Given the description of an element on the screen output the (x, y) to click on. 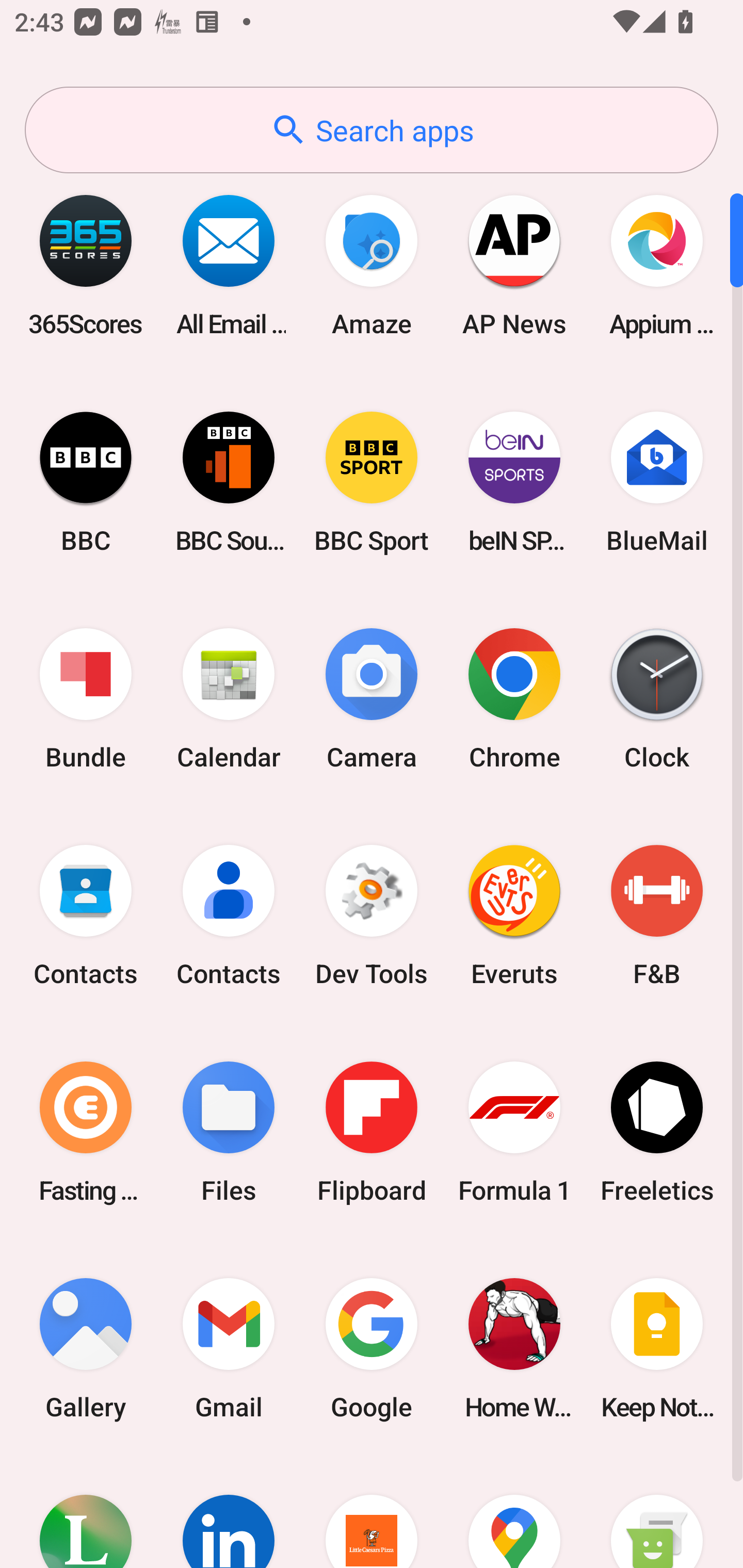
  Search apps (371, 130)
365Scores (85, 264)
All Email Connect (228, 264)
Amaze (371, 264)
AP News (514, 264)
Appium Settings (656, 264)
BBC (85, 482)
BBC Sounds (228, 482)
BBC Sport (371, 482)
beIN SPORTS (514, 482)
BlueMail (656, 482)
Bundle (85, 699)
Calendar (228, 699)
Camera (371, 699)
Chrome (514, 699)
Clock (656, 699)
Contacts (85, 915)
Contacts (228, 915)
Dev Tools (371, 915)
Everuts (514, 915)
F&B (656, 915)
Fasting Coach (85, 1131)
Files (228, 1131)
Flipboard (371, 1131)
Formula 1 (514, 1131)
Freeletics (656, 1131)
Gallery (85, 1348)
Gmail (228, 1348)
Google (371, 1348)
Home Workout (514, 1348)
Keep Notes (656, 1348)
